Given the description of an element on the screen output the (x, y) to click on. 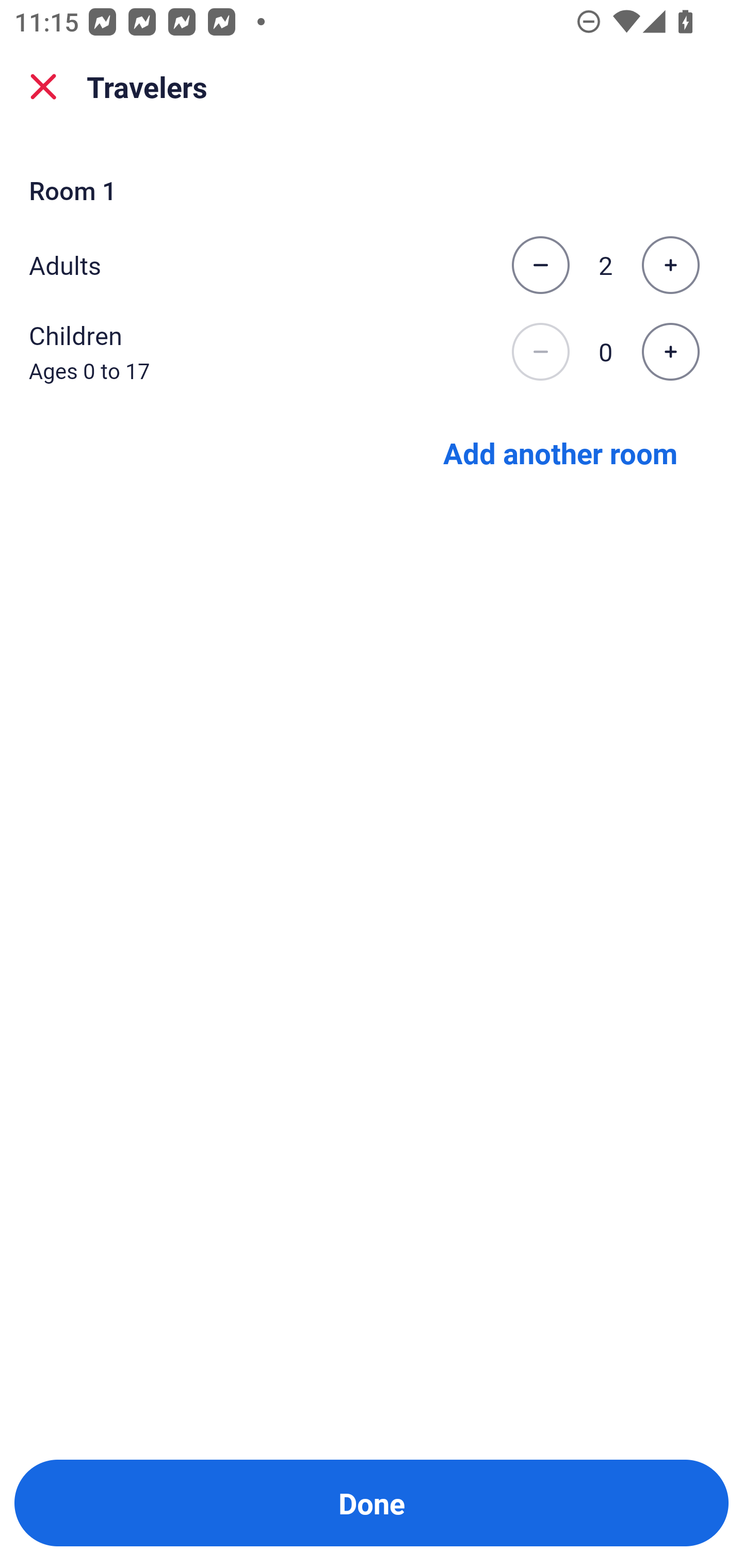
close (43, 86)
Decrease the number of adults (540, 264)
Increase the number of adults (670, 264)
Decrease the number of children (540, 351)
Increase the number of children (670, 351)
Add another room (560, 452)
Done (371, 1502)
